Given the description of an element on the screen output the (x, y) to click on. 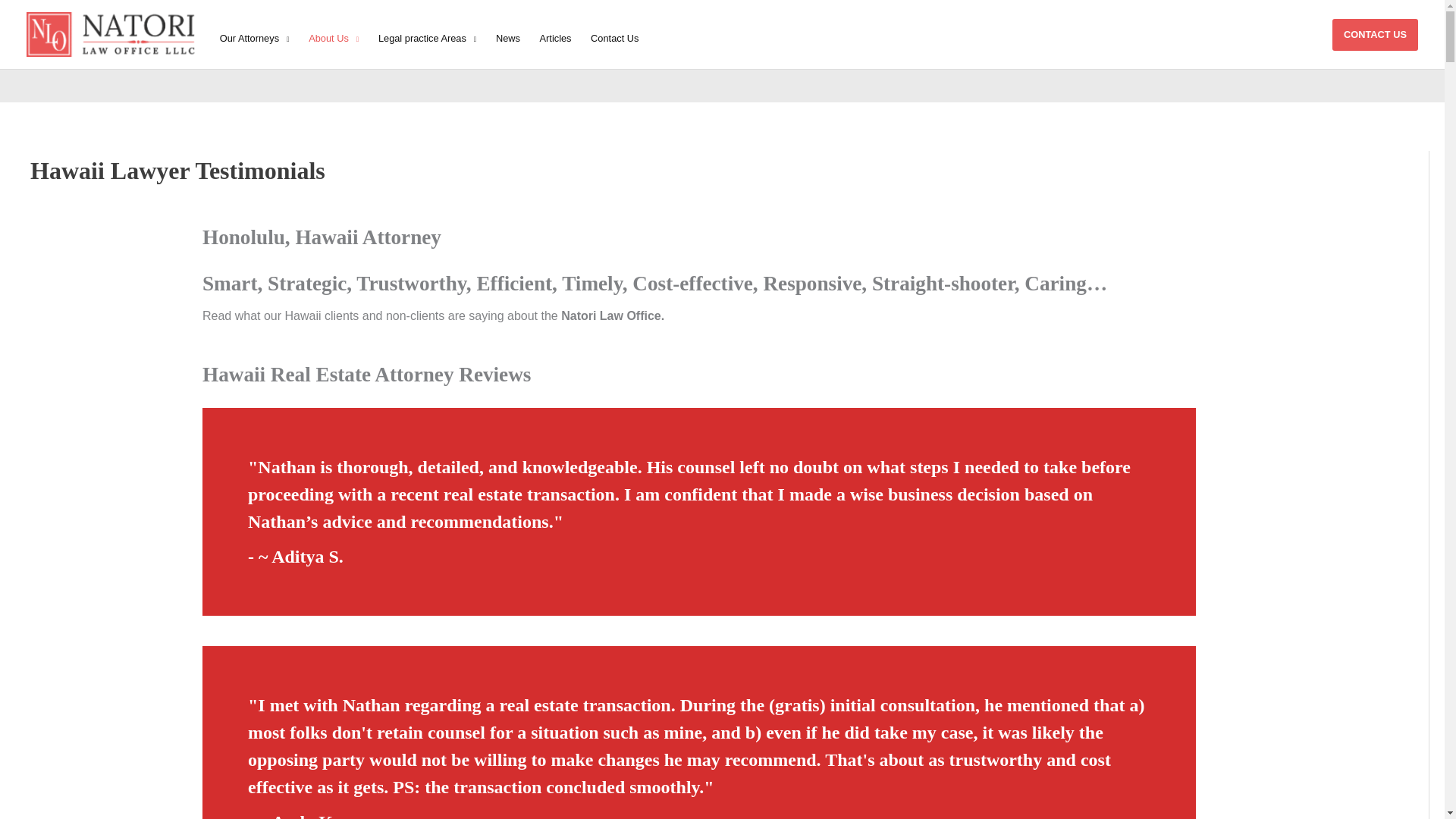
Our Attorneys (253, 38)
Legal practice Areas (427, 38)
About Us (333, 38)
